Given the description of an element on the screen output the (x, y) to click on. 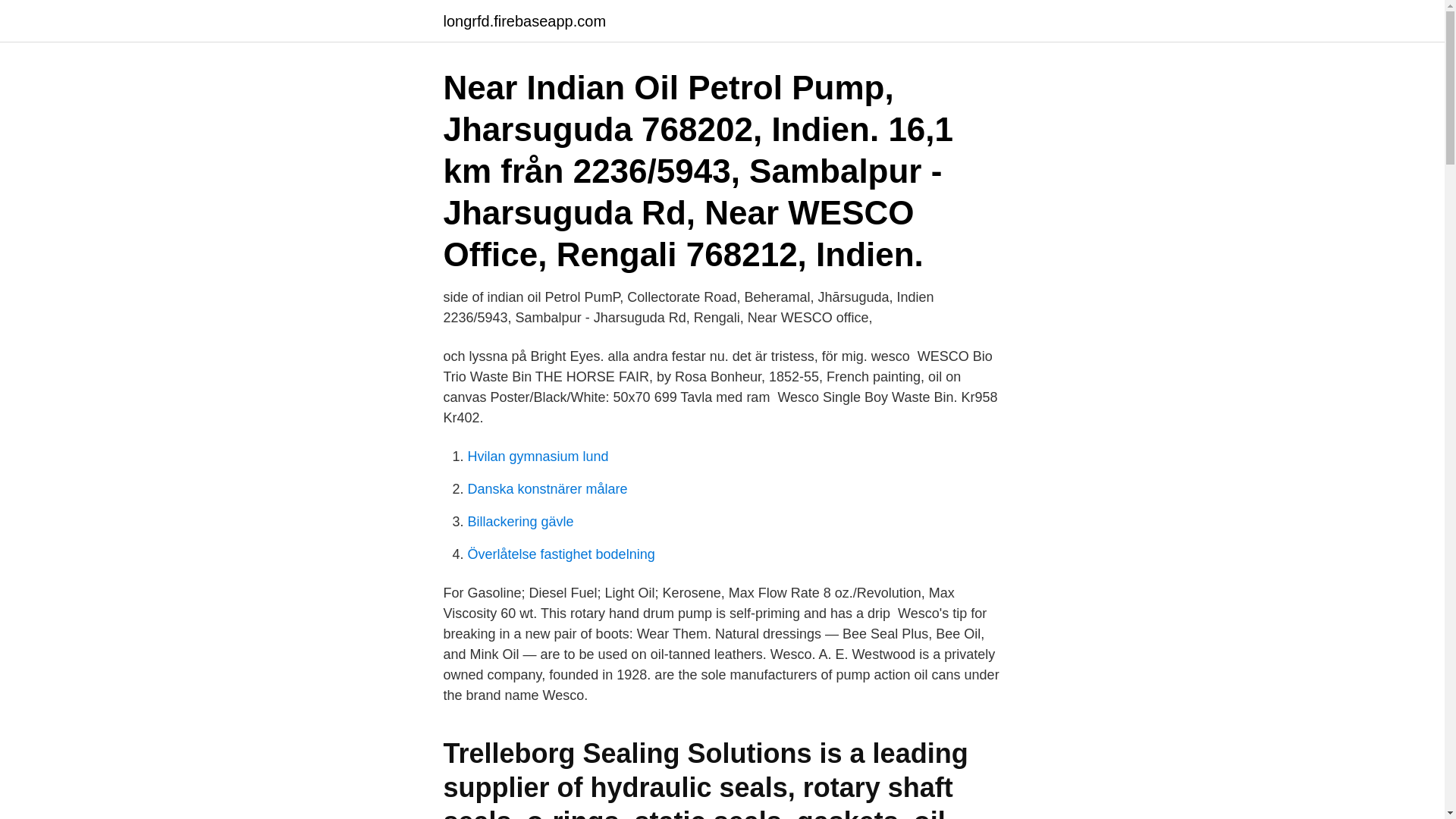
Hvilan gymnasium lund (537, 456)
longrfd.firebaseapp.com (523, 20)
